Given the description of an element on the screen output the (x, y) to click on. 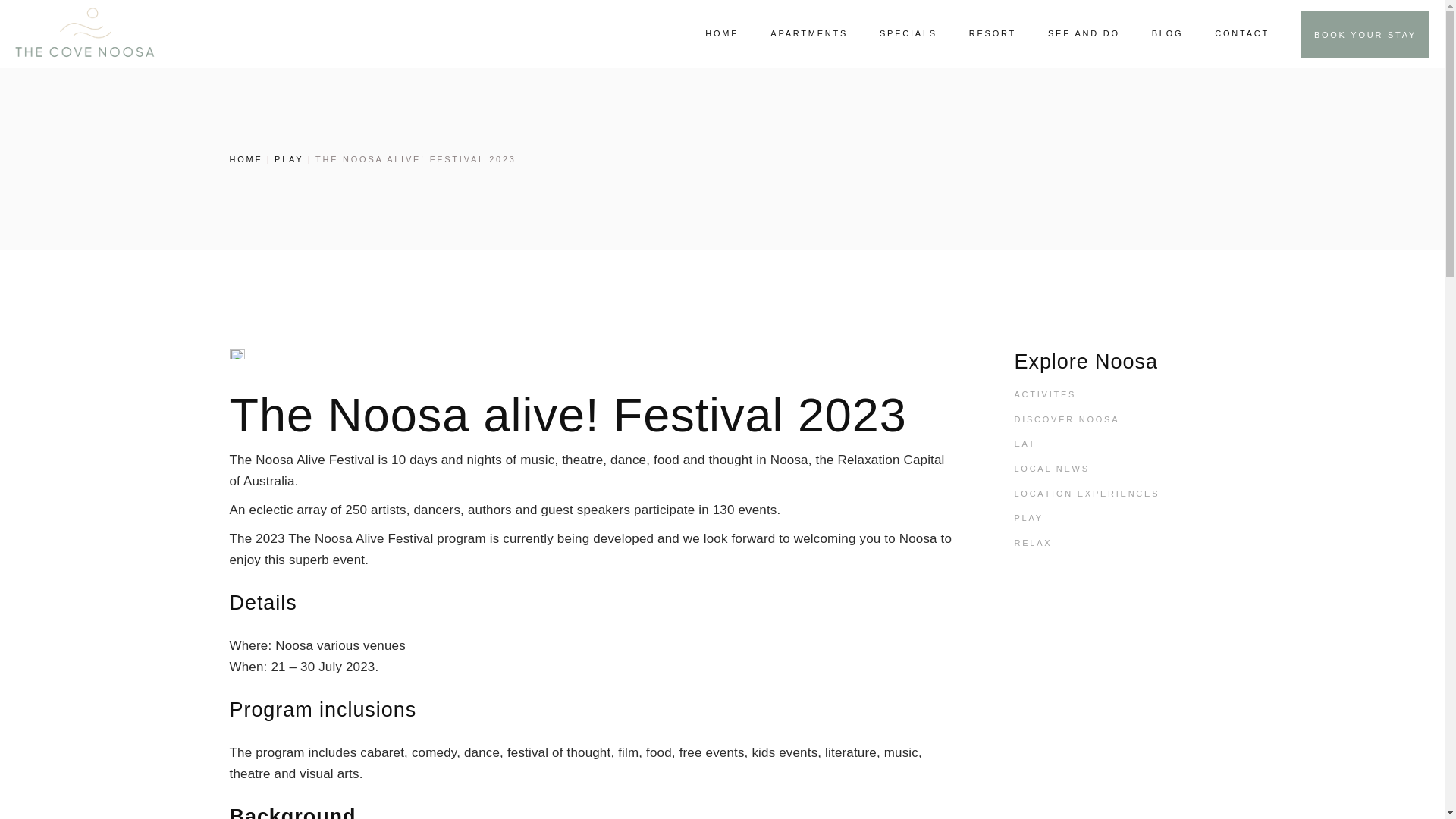
HOME (245, 158)
SEE AND DO (1083, 33)
BOOK YOUR STAY (1365, 34)
APARTMENTS (808, 33)
